Given the description of an element on the screen output the (x, y) to click on. 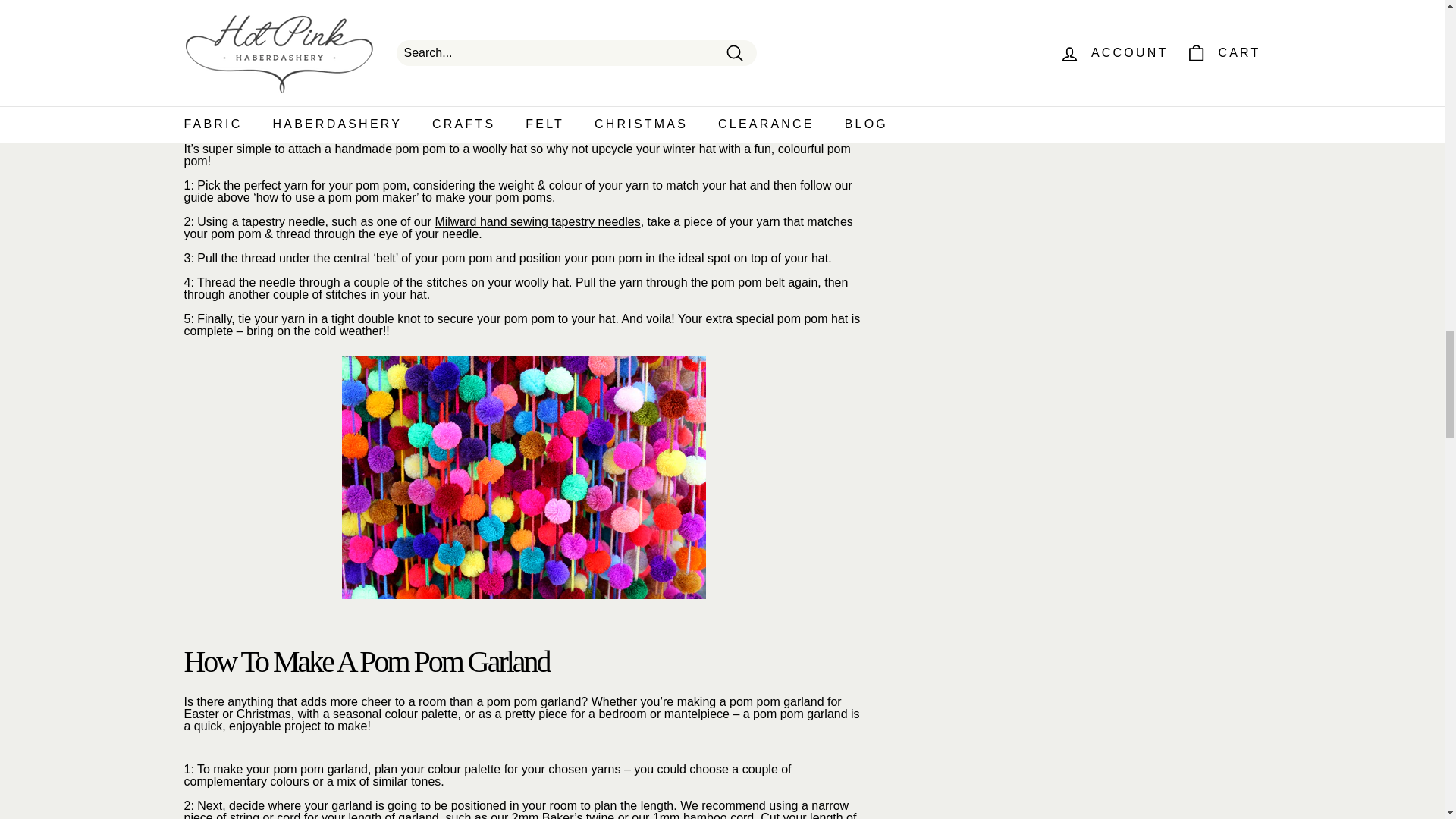
Bamboo cord (703, 815)
Baker's twine (563, 815)
Milward tapestry needles (536, 221)
